Given the description of an element on the screen output the (x, y) to click on. 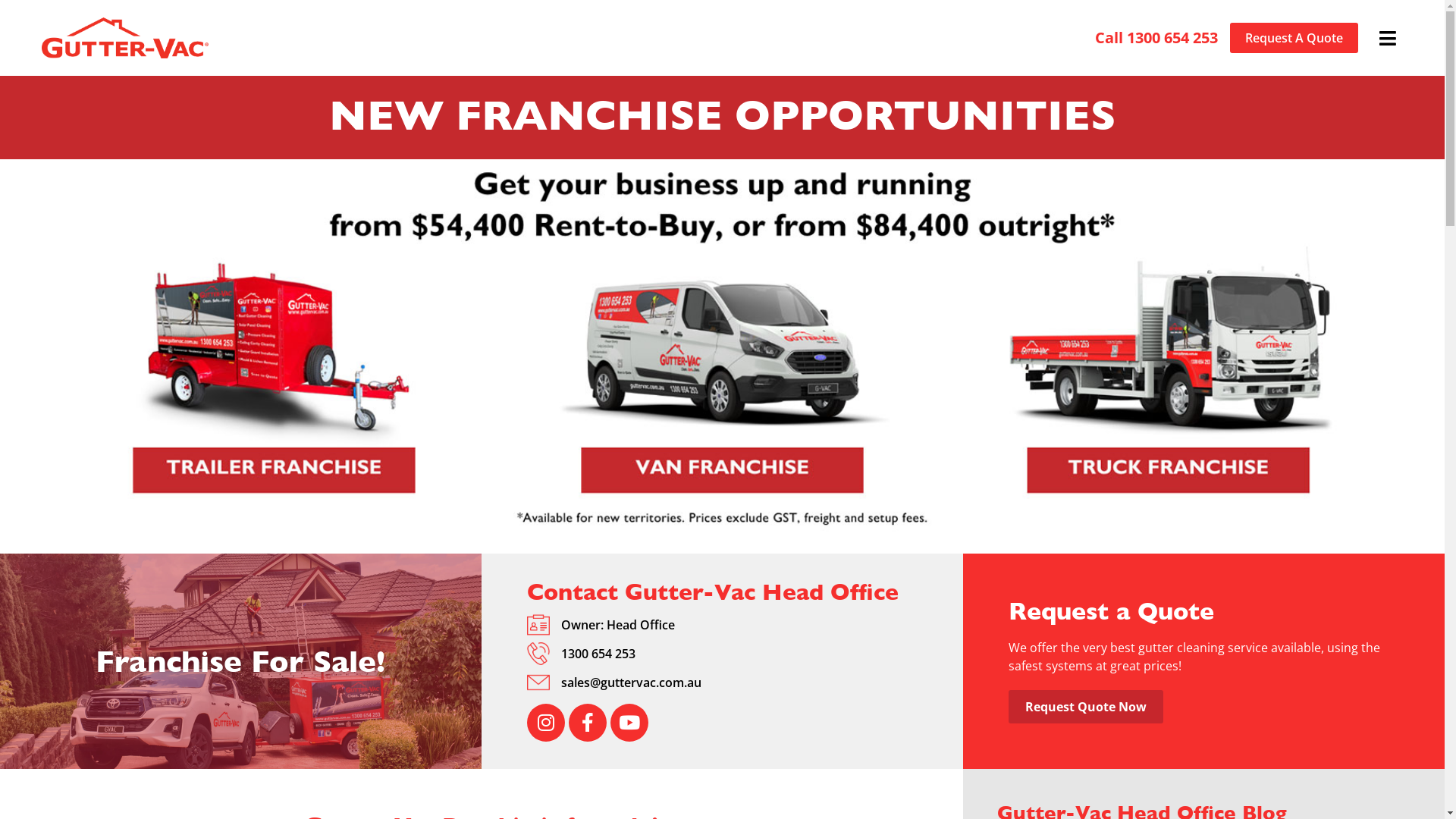
Call 1300 654 253 Element type: text (1156, 37)
1300 654 253 Element type: text (598, 653)
sales@guttervac.com.au Element type: text (631, 682)
Request A Quote Element type: text (1294, 37)
Request Quote Now Element type: text (1085, 706)
